Given the description of an element on the screen output the (x, y) to click on. 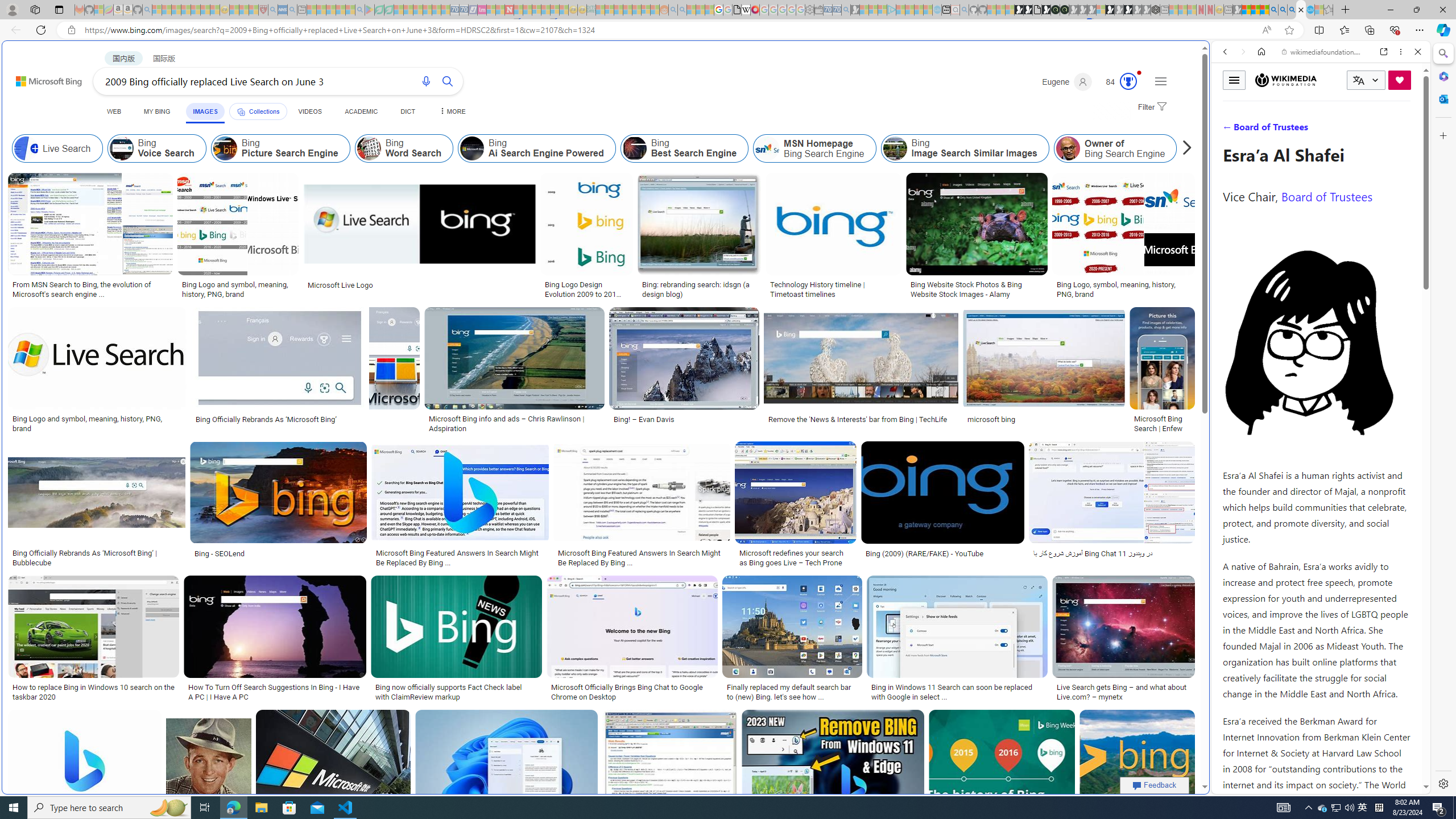
Microsoft Bing Search | Enfew (1162, 423)
Services - Maintenance | Sky Blue Bikes - Sky Blue Bikes (1309, 9)
Bing Picture Search Engine (224, 148)
MY BING (156, 111)
MSN Homepage Bing Search Engine (767, 148)
